Given the description of an element on the screen output the (x, y) to click on. 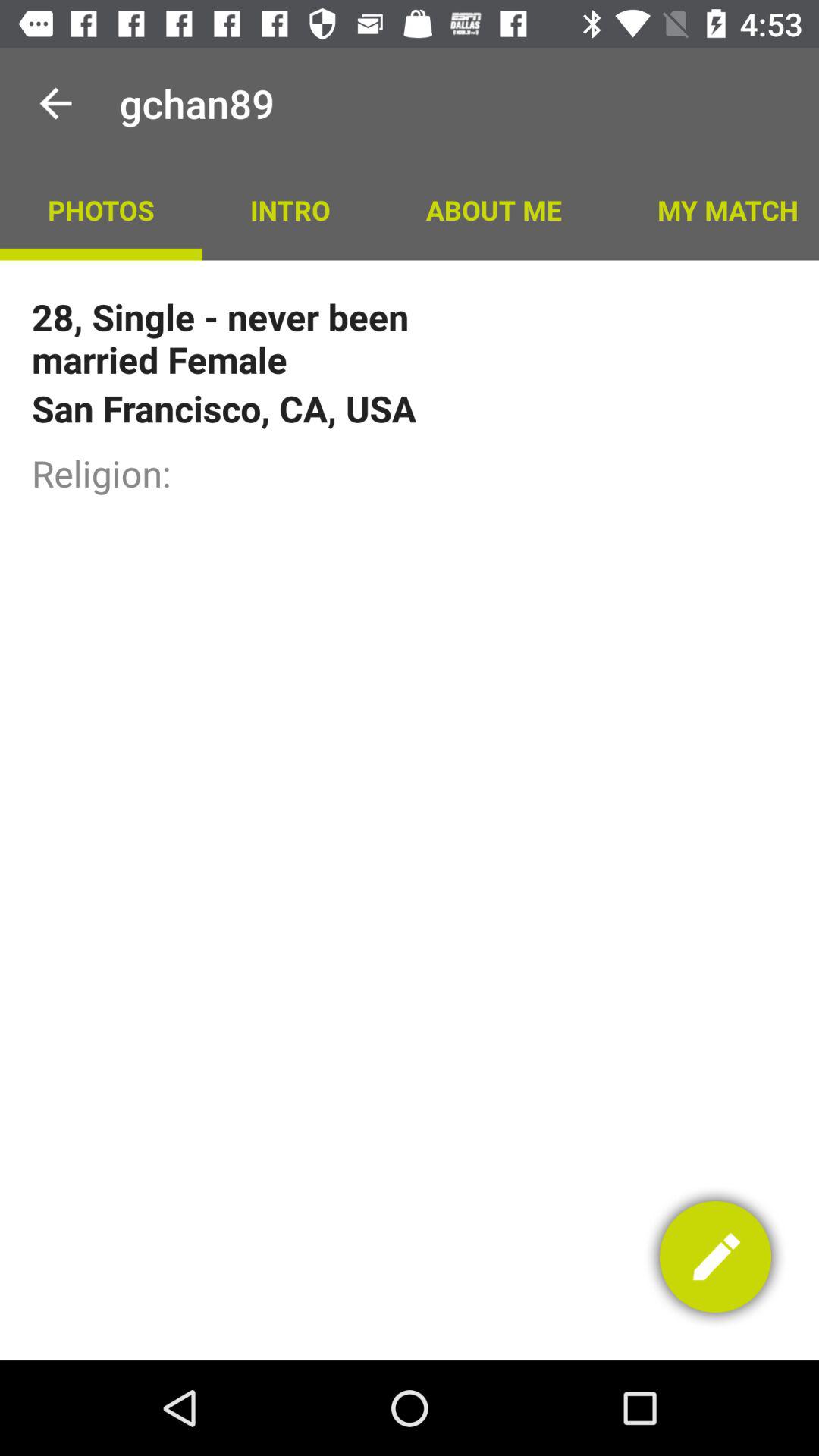
turn on the icon next to intro app (101, 209)
